Given the description of an element on the screen output the (x, y) to click on. 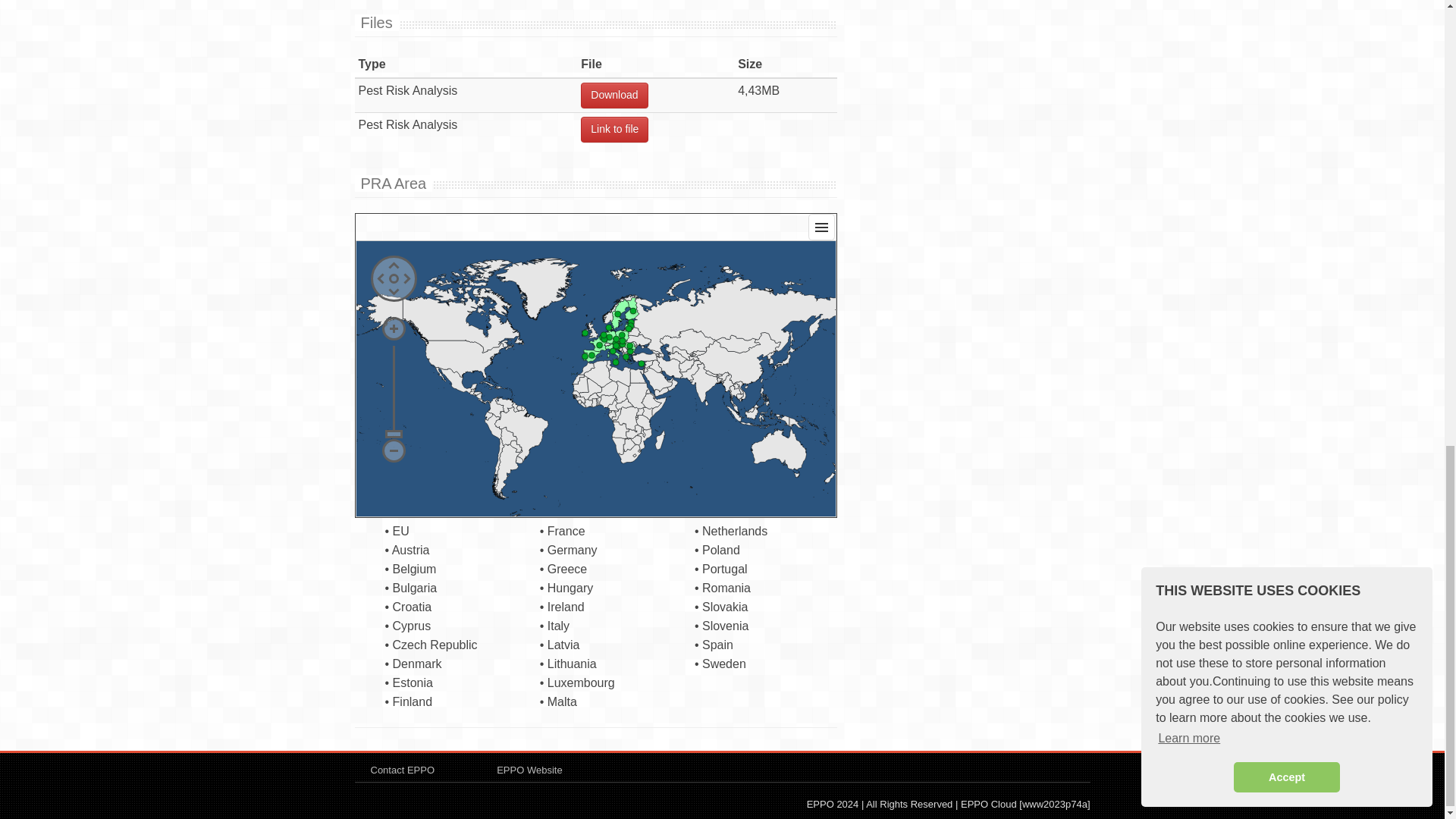
Download (613, 95)
link (613, 129)
Link to file (613, 129)
Contact EPPO (401, 769)
EPPO Website (529, 769)
